Given the description of an element on the screen output the (x, y) to click on. 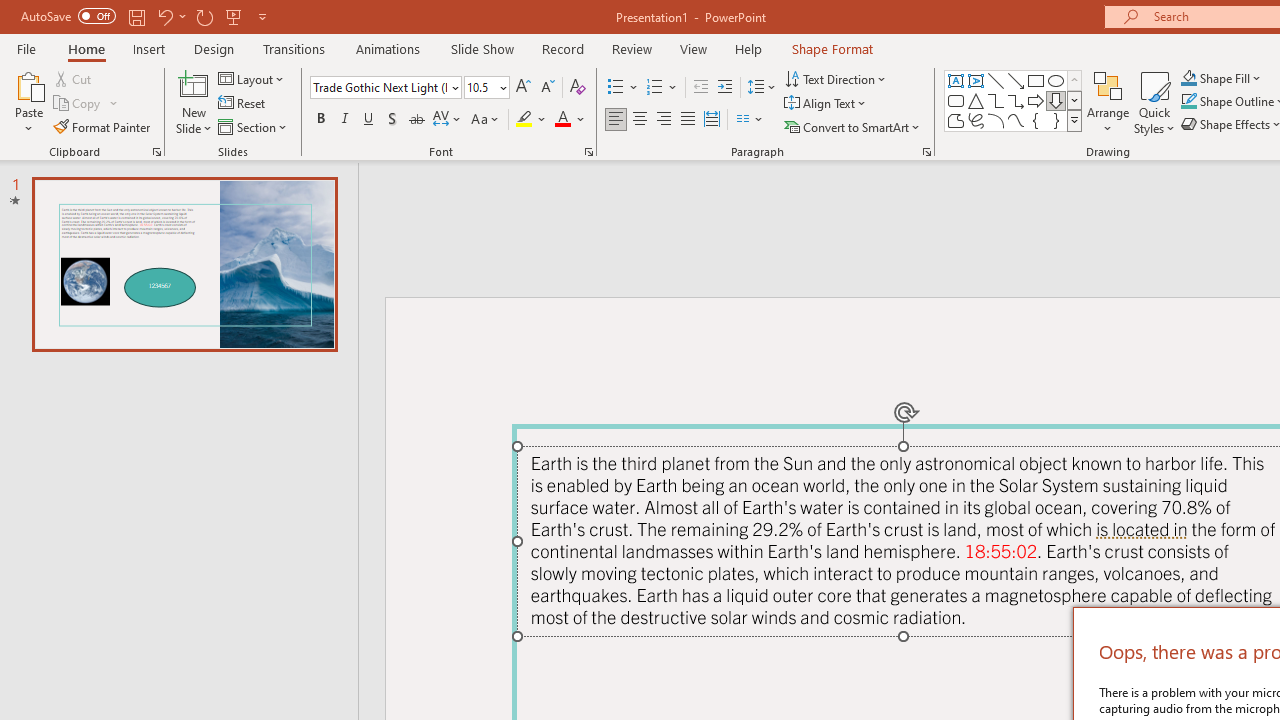
Shapes (1074, 120)
Isosceles Triangle (975, 100)
Arrow: Right (1035, 100)
AutoSave (68, 16)
New Slide (193, 84)
Increase Indent (725, 87)
Format Painter (103, 126)
Columns (750, 119)
Font... (588, 151)
Arrange (1108, 102)
Change Case (486, 119)
Align Left (616, 119)
Vertical Text Box (975, 80)
Bullets (616, 87)
